Given the description of an element on the screen output the (x, y) to click on. 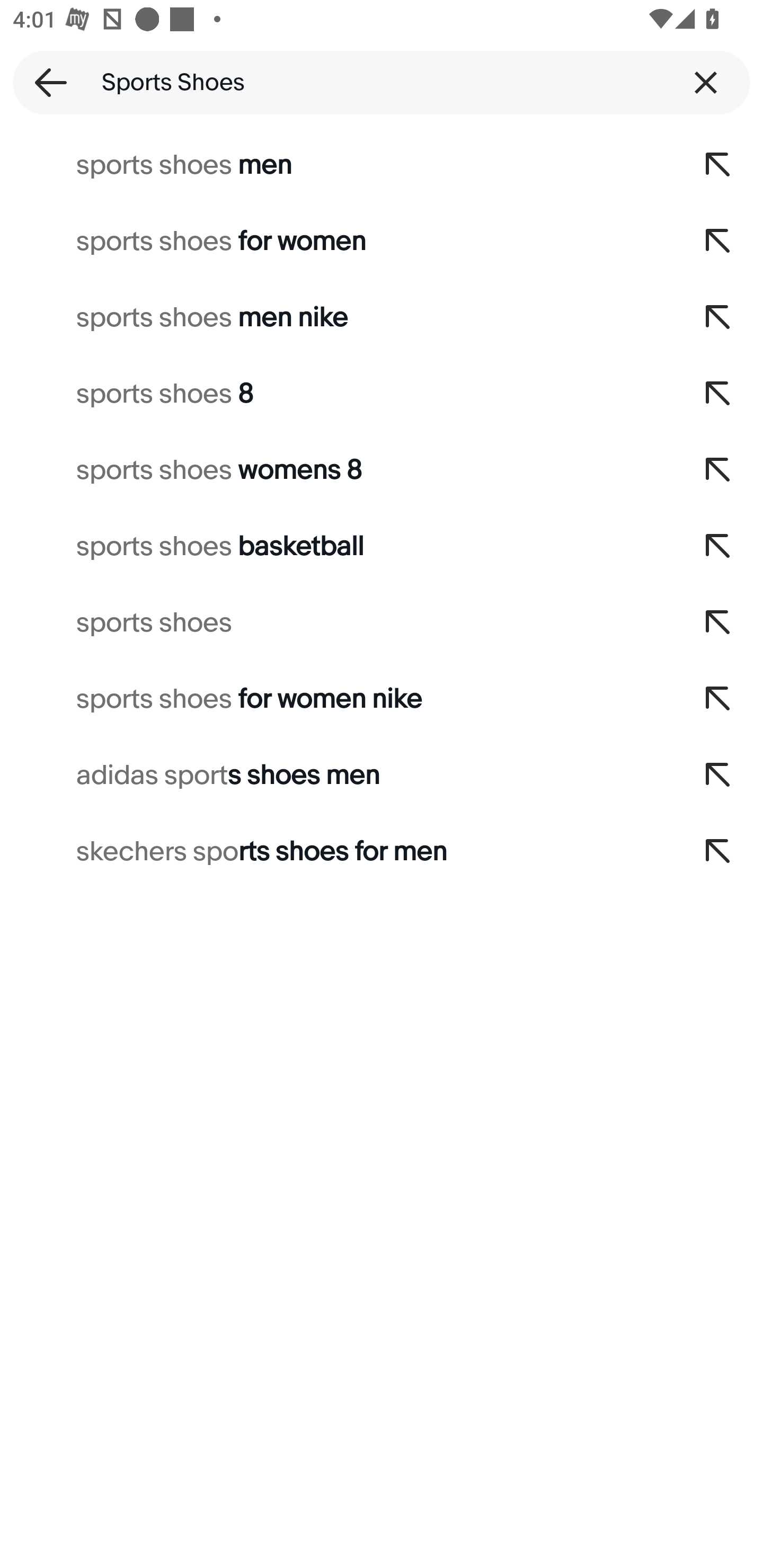
Back (44, 82)
Clear query (705, 82)
Sports Shoes (381, 82)
sports shoes men (336, 165)
Add to search query,sports shoes men (718, 165)
sports shoes for women (336, 241)
Add to search query,sports shoes for women (718, 241)
sports shoes men nike (336, 317)
Add to search query,sports shoes men nike (718, 317)
sports shoes 8 (336, 393)
Add to search query,sports shoes 8 (718, 393)
sports shoes womens 8 (336, 470)
Add to search query,sports shoes womens 8 (718, 470)
sports shoes basketball (336, 546)
Add to search query,sports shoes basketball (718, 546)
sports shoes (336, 622)
Add to search query,sports shoes (718, 622)
sports shoes for women nike (336, 698)
Add to search query,sports shoes for women nike (718, 698)
adidas sports shoes men (336, 774)
Add to search query,adidas sports shoes men (718, 774)
skechers sports shoes for men (336, 851)
Add to search query,skechers sports shoes for men (718, 851)
